Given the description of an element on the screen output the (x, y) to click on. 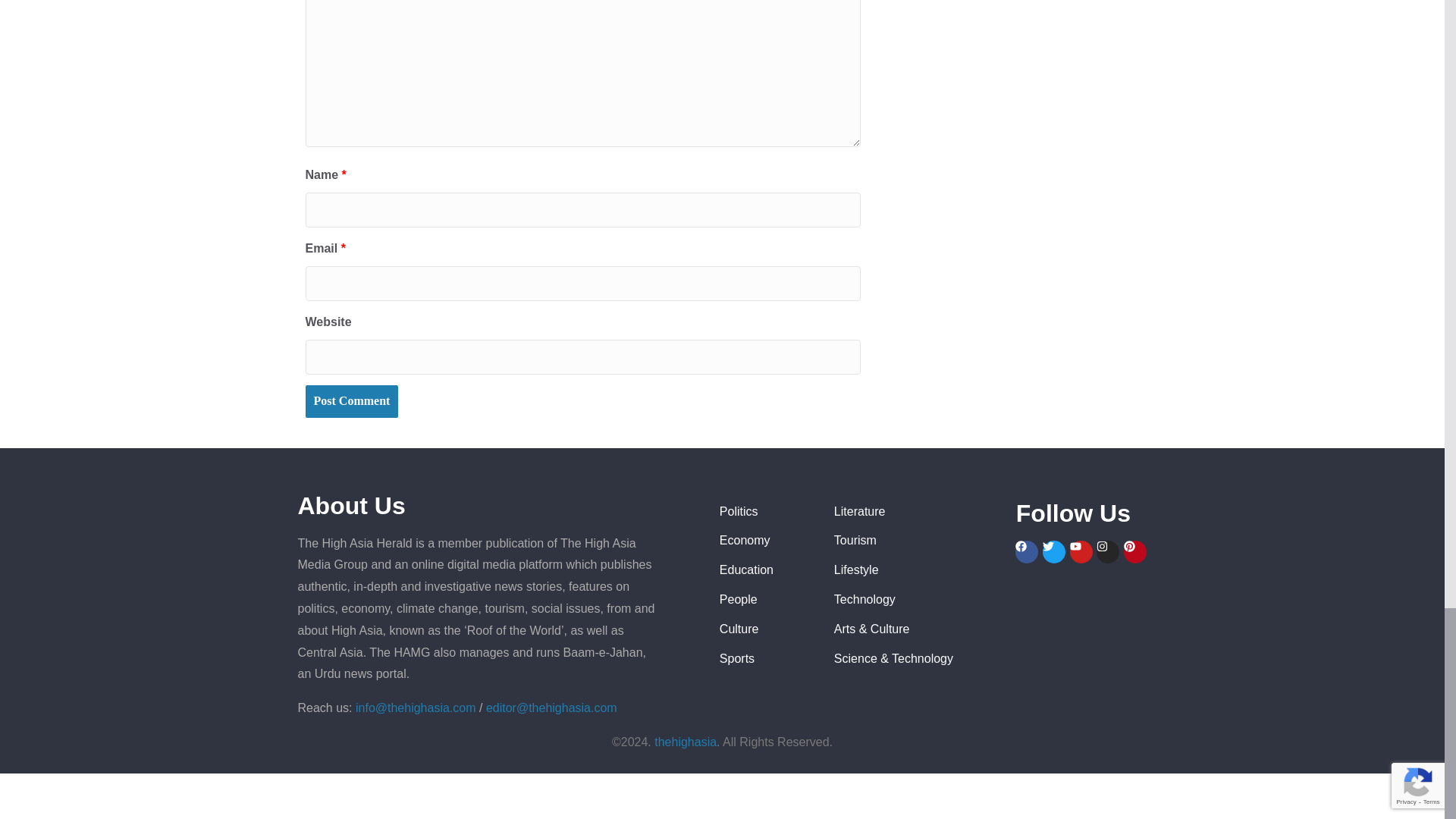
Literature (917, 512)
Technology (917, 599)
Lifestyle (917, 570)
Post Comment (350, 400)
People (764, 599)
Economy (764, 540)
Education (764, 570)
Politics (764, 512)
Sports (764, 659)
Culture (764, 629)
